Given the description of an element on the screen output the (x, y) to click on. 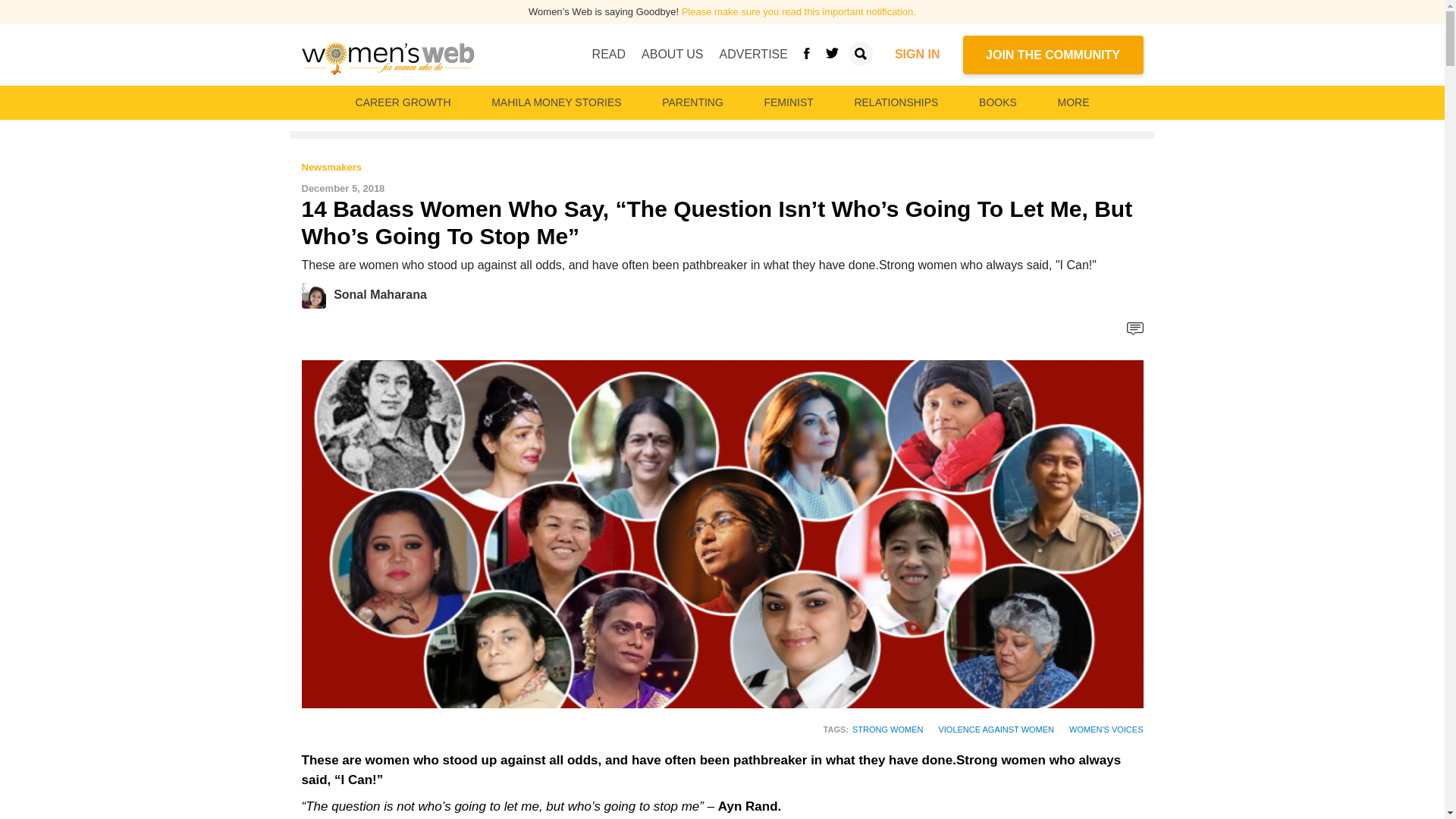
Sonal Maharana (379, 294)
CAREER GROWTH (402, 102)
FEMINIST (788, 102)
READ (608, 54)
BOOKS (998, 102)
Please make sure you read this important notification. (798, 11)
ABOUT US (672, 54)
ADVERTISE (753, 54)
MAHILA MONEY STORIES (555, 102)
PARENTING (691, 102)
Sonal Maharana (317, 294)
RELATIONSHIPS (894, 102)
MORE (1072, 102)
